Given the description of an element on the screen output the (x, y) to click on. 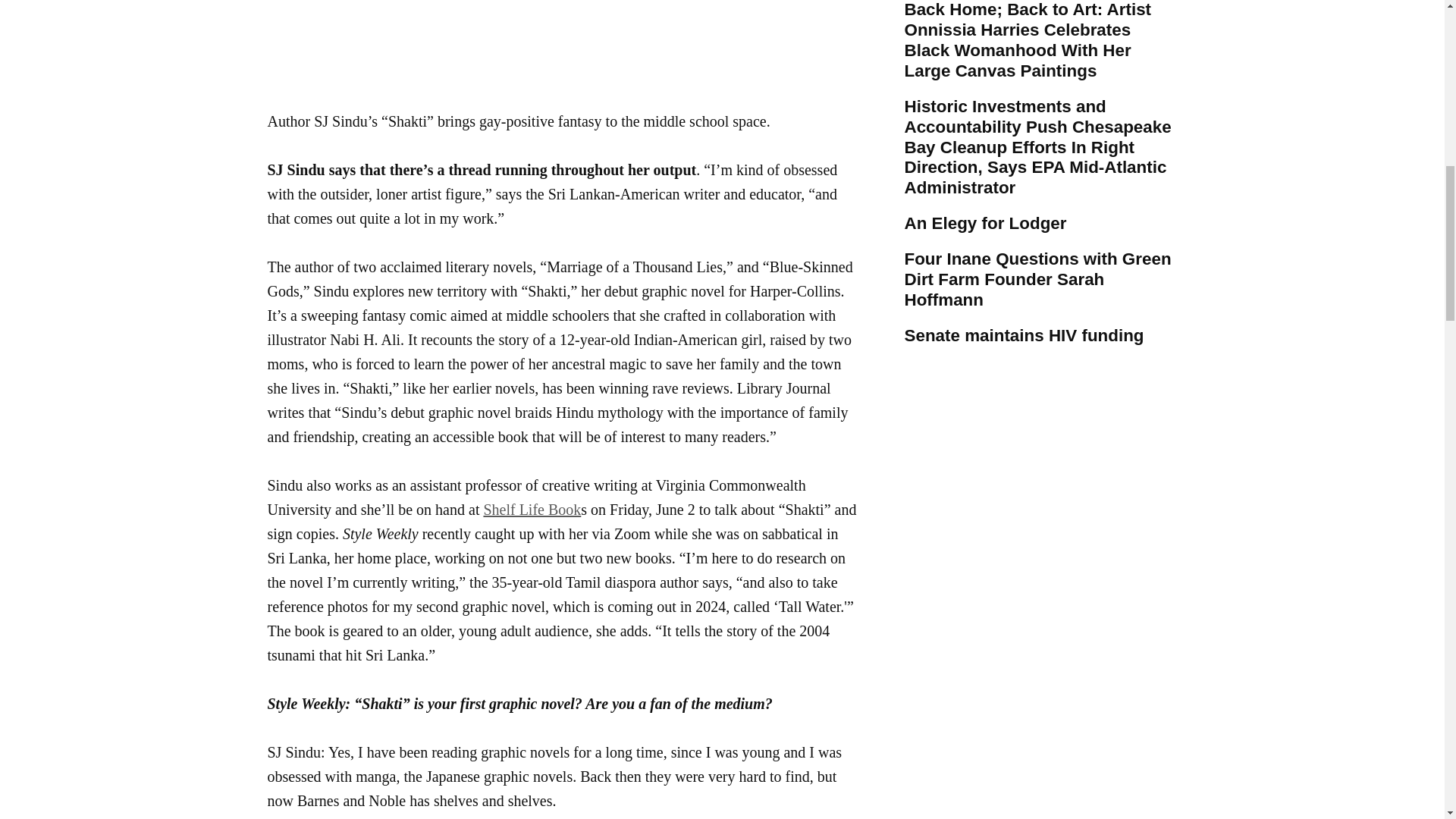
An Elegy for Lodger (984, 224)
Senate maintains HIV funding (1023, 335)
Shelf Life Book (531, 509)
